Given the description of an element on the screen output the (x, y) to click on. 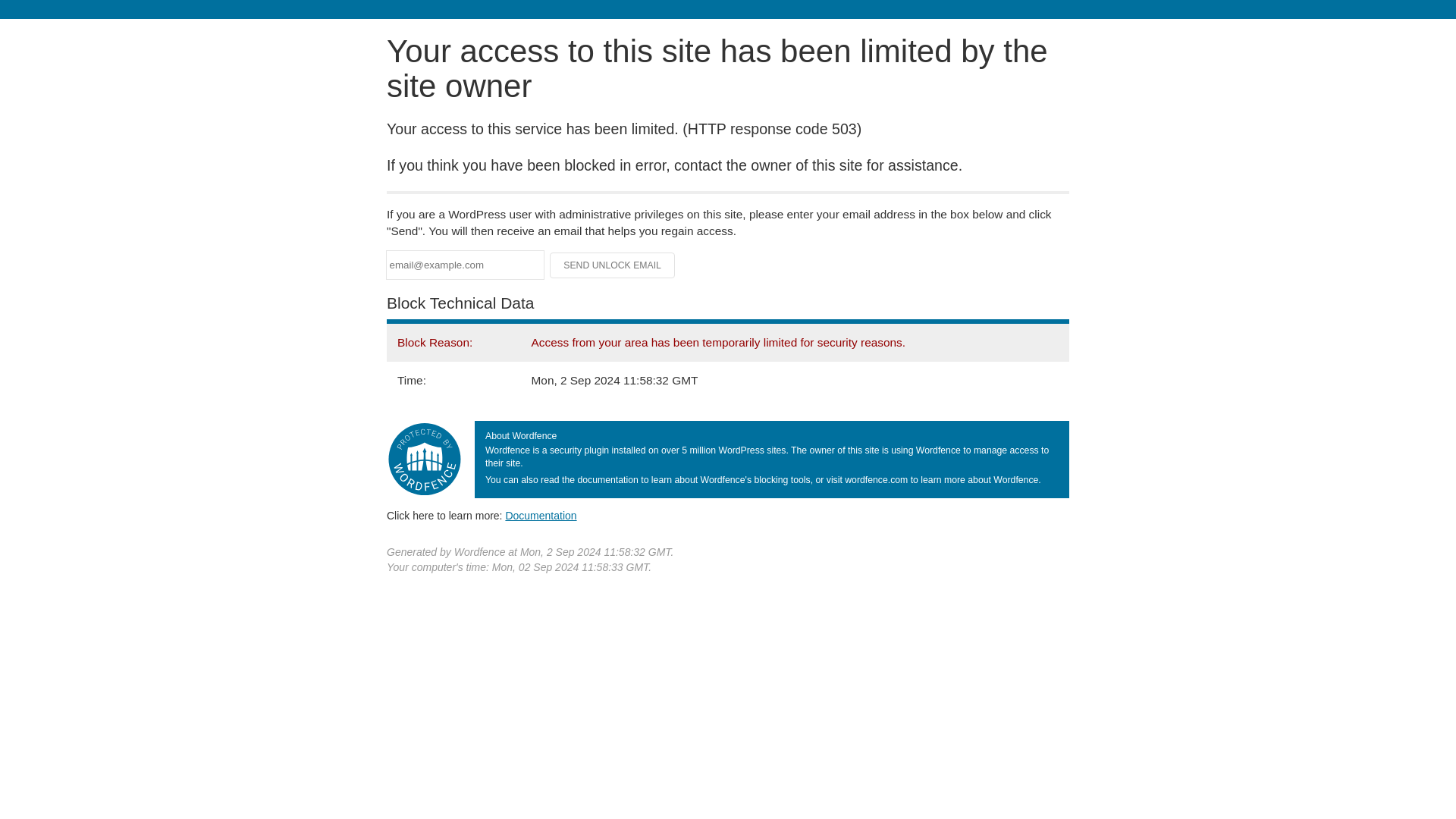
Send Unlock Email (612, 265)
Documentation (540, 515)
Send Unlock Email (612, 265)
